Given the description of an element on the screen output the (x, y) to click on. 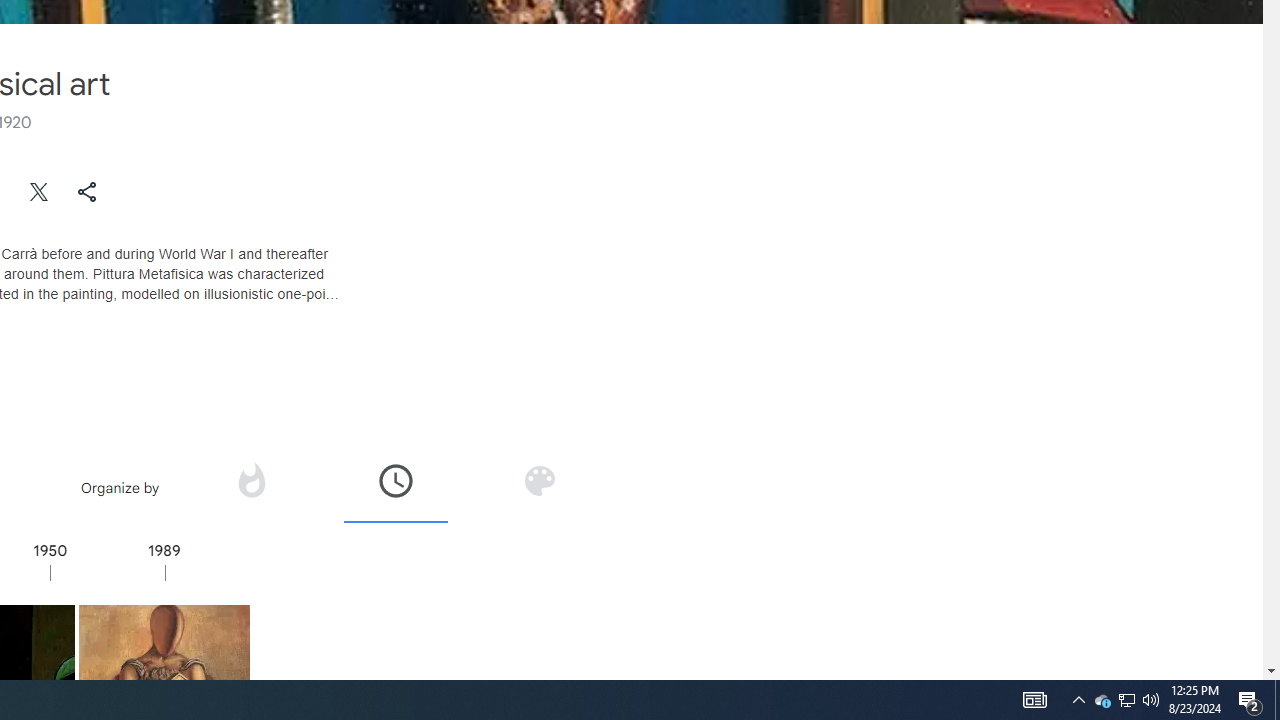
Organize by time (395, 487)
Share "Metaphysical art" (87, 191)
1950 (107, 572)
Organize by popularity (250, 480)
Organize by popularity (251, 487)
Share on Twitter (39, 191)
Organize by color (538, 487)
Organize by time (395, 480)
Organize by color (539, 480)
